Given the description of an element on the screen output the (x, y) to click on. 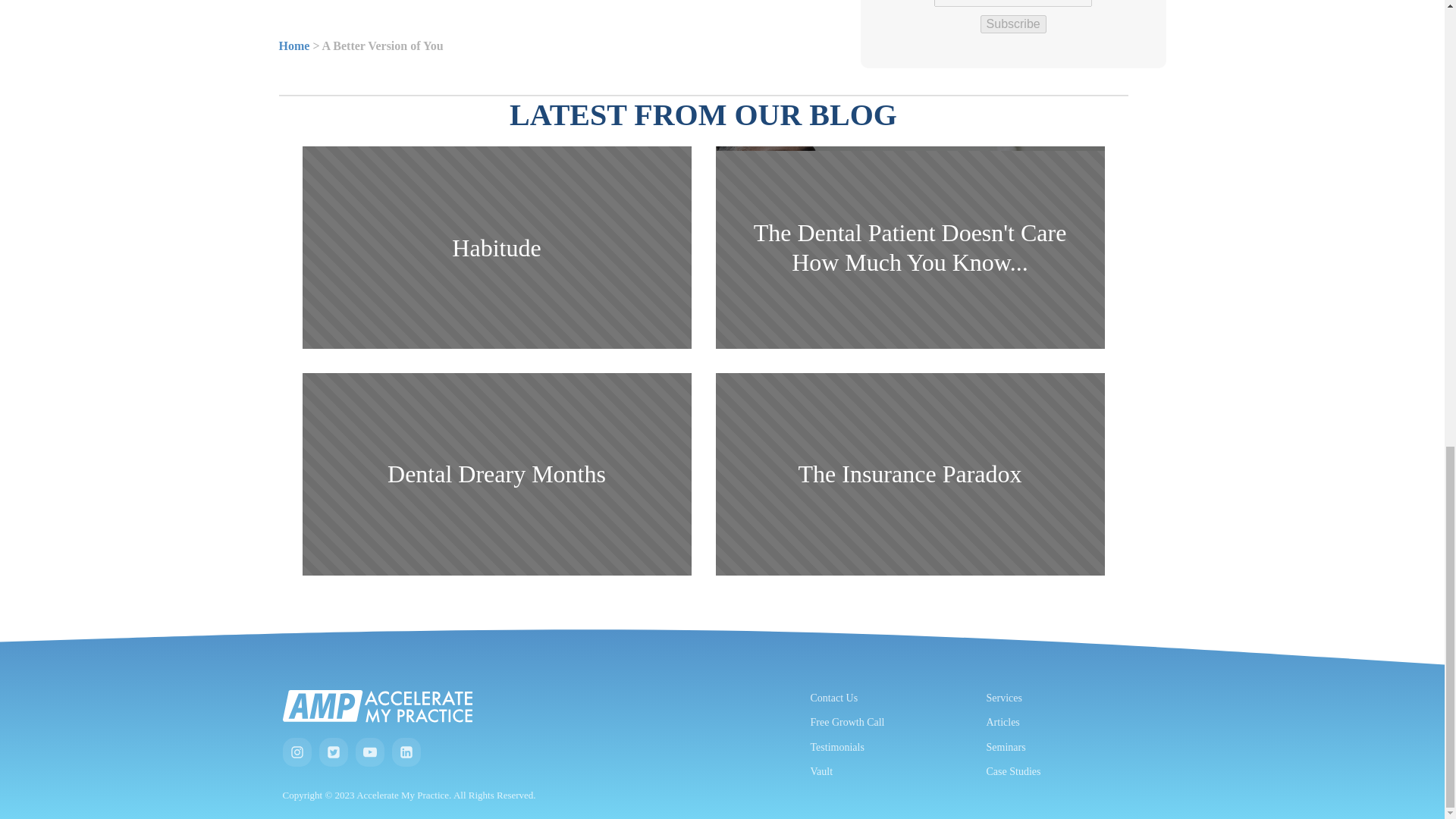
Contact Us (833, 698)
LATEST FROM OUR BLOG (702, 115)
The Insurance Paradox (909, 474)
The Dental Patient Doesn't Care How Much You Know... (909, 247)
Home (294, 45)
Subscribe (1012, 24)
Subscribe (1012, 24)
Habitude (496, 247)
Dental Dreary Months (496, 474)
How to: Build A Better Version of You (561, 5)
